Given the description of an element on the screen output the (x, y) to click on. 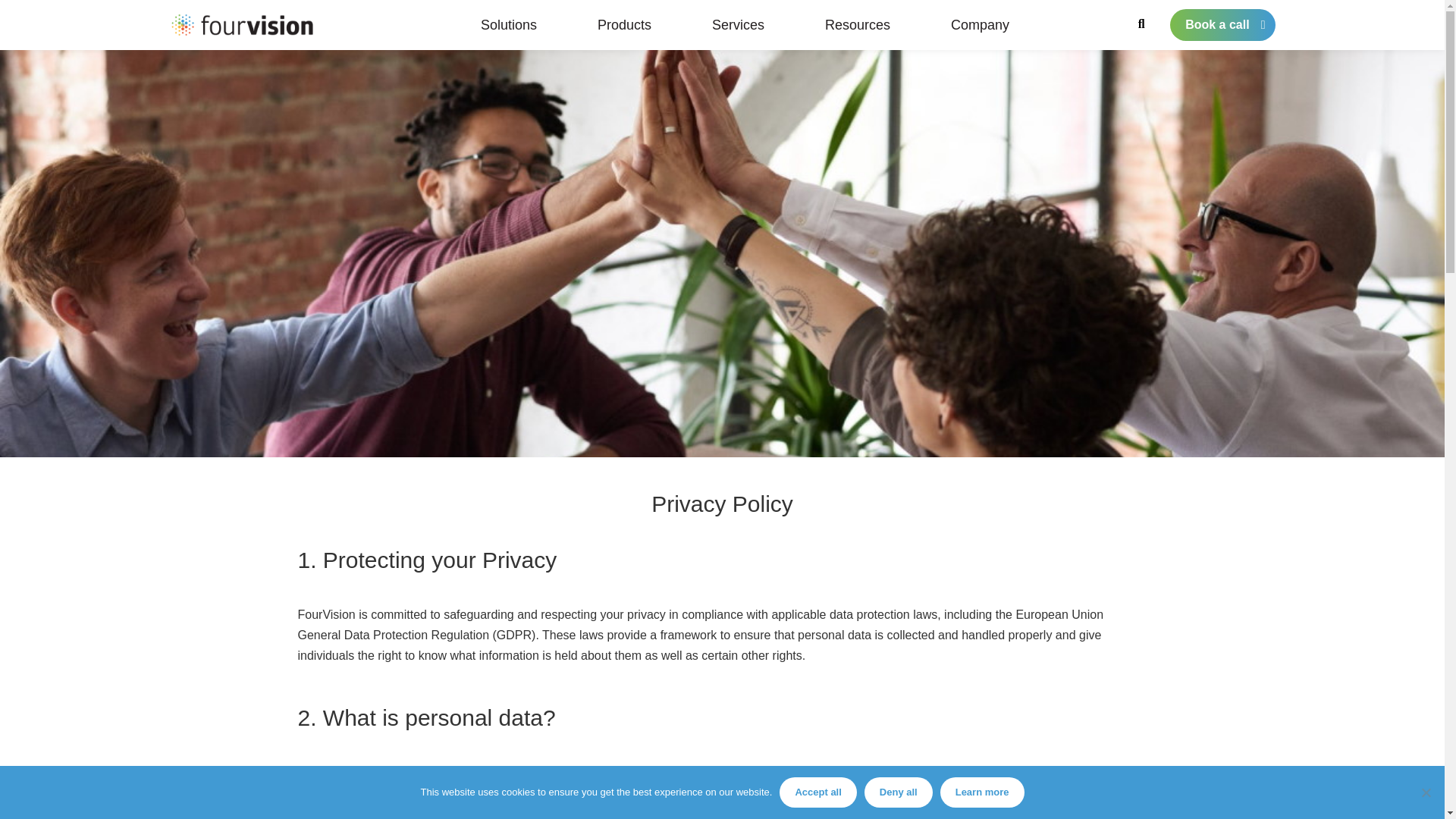
Products (624, 24)
Resources (857, 24)
Deny all (1425, 792)
Company (980, 24)
Services (737, 24)
Solutions (508, 24)
